Given the description of an element on the screen output the (x, y) to click on. 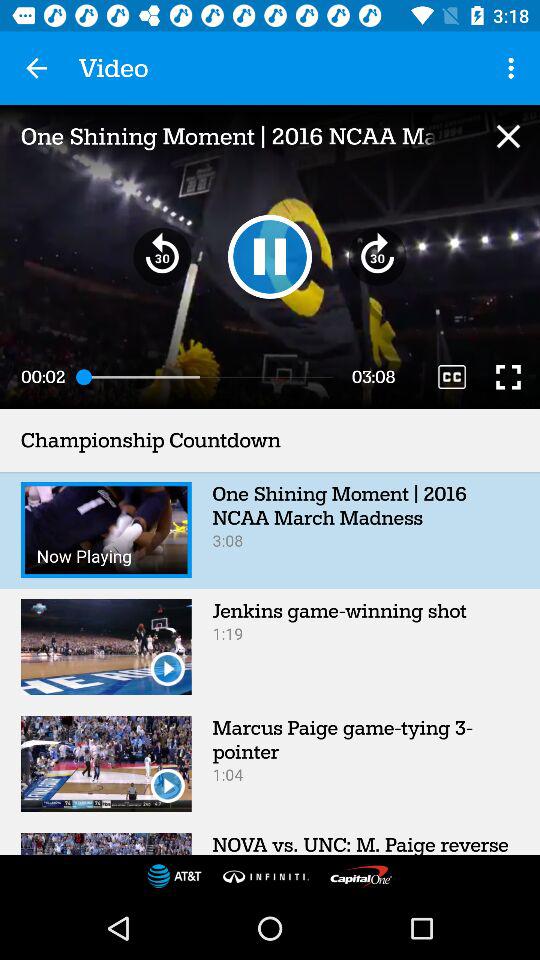
click icon next to the one shining moment item (513, 67)
